Given the description of an element on the screen output the (x, y) to click on. 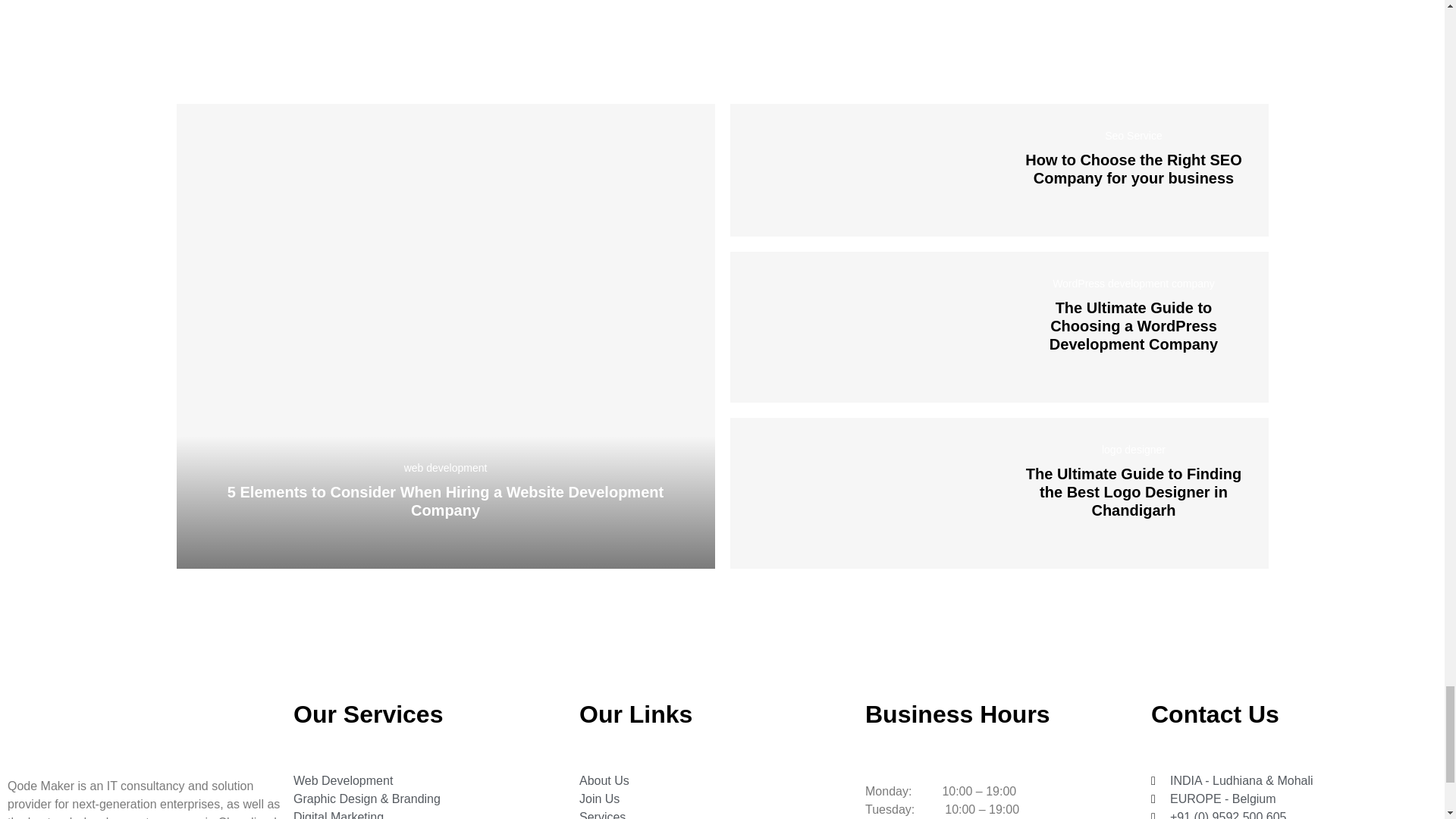
How to Choose the Right SEO Company for your business (863, 170)
